Given the description of an element on the screen output the (x, y) to click on. 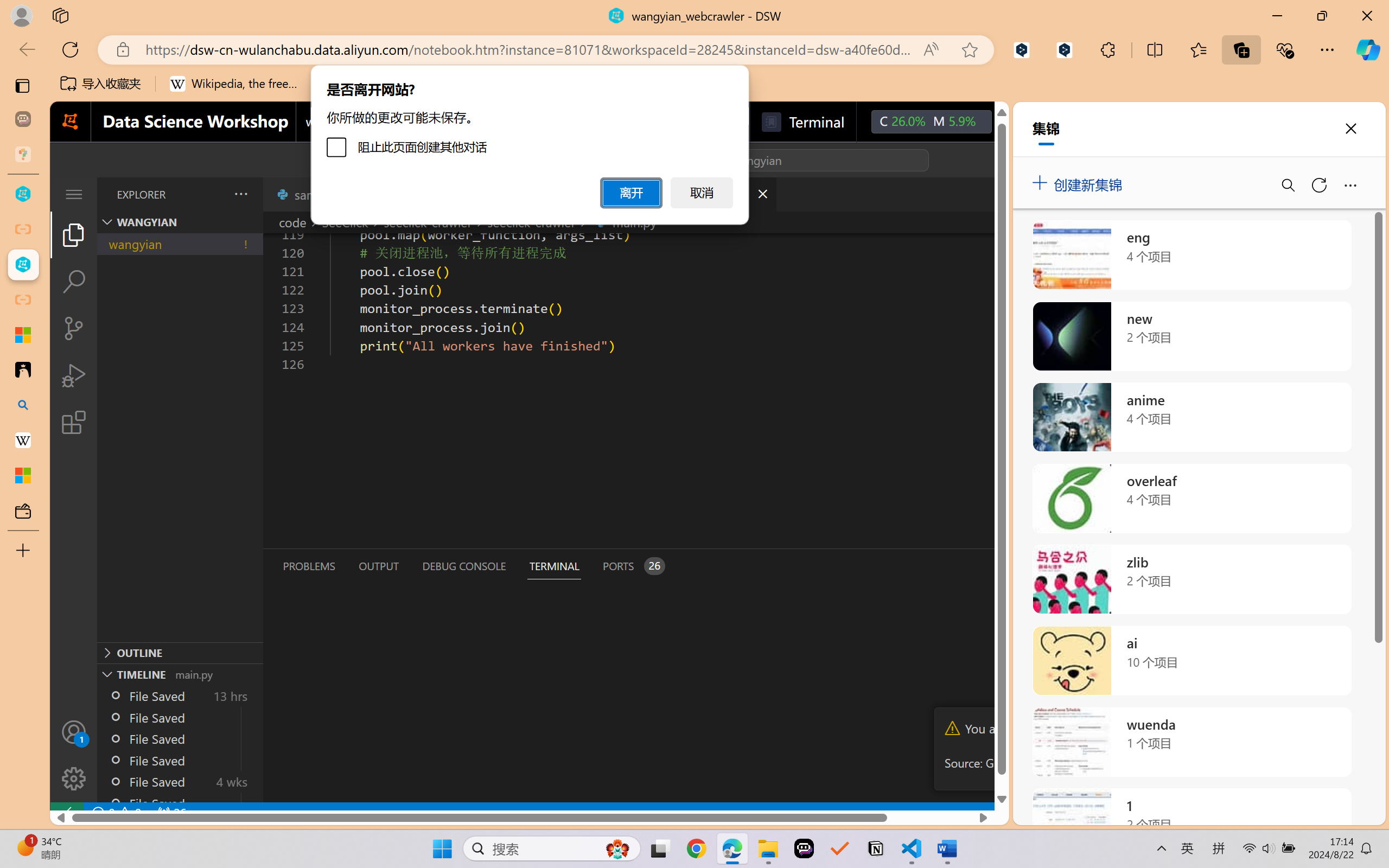
Debug Console (Ctrl+Shift+Y) (463, 565)
Terminal actions (1002, 565)
No Problems (115, 812)
Run and Debug (Ctrl+Shift+D) (73, 375)
Output (Ctrl+Shift+U) (377, 565)
Terminal (Ctrl+`) (553, 565)
